Given the description of an element on the screen output the (x, y) to click on. 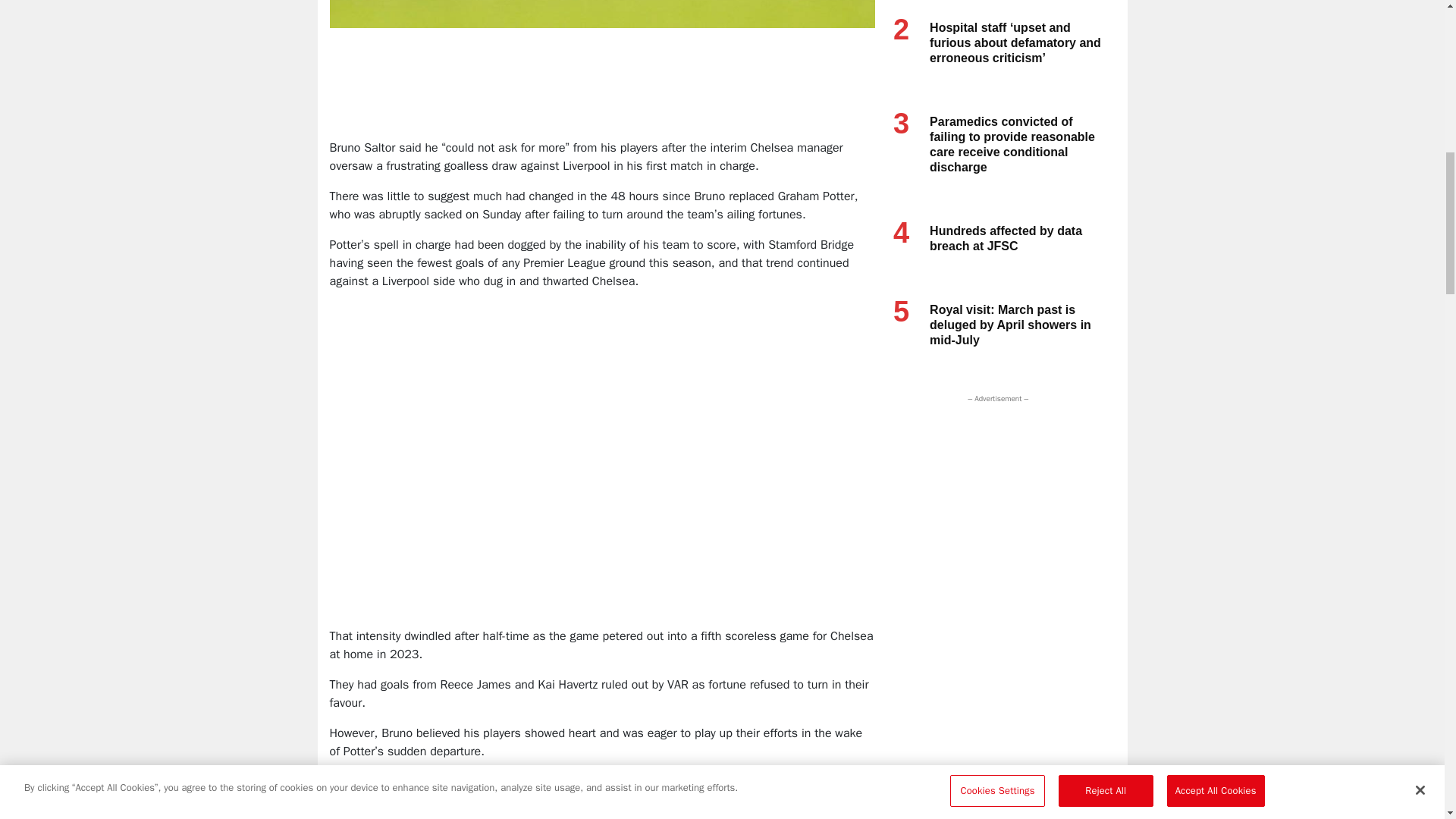
3rd party ad content (604, 89)
3rd party ad content (994, 501)
